Given the description of an element on the screen output the (x, y) to click on. 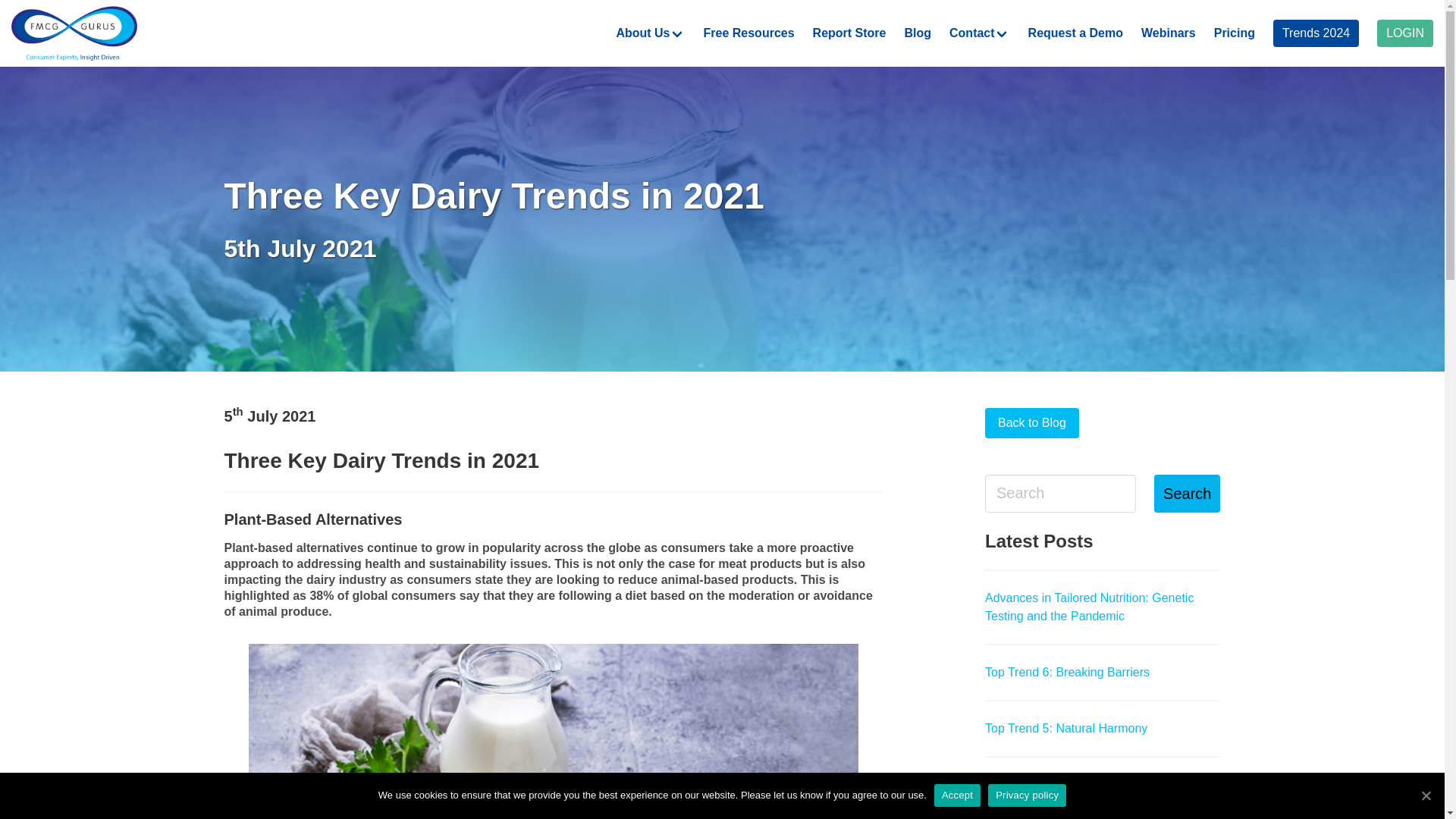
Webinars (1168, 33)
Contact (979, 33)
Pricing (1234, 33)
Trends 2024 (1315, 32)
About Us (650, 33)
Report Store (849, 33)
Request a Demo (1075, 33)
LOGIN (1404, 32)
Blog (917, 33)
Free Resources (748, 33)
